Given the description of an element on the screen output the (x, y) to click on. 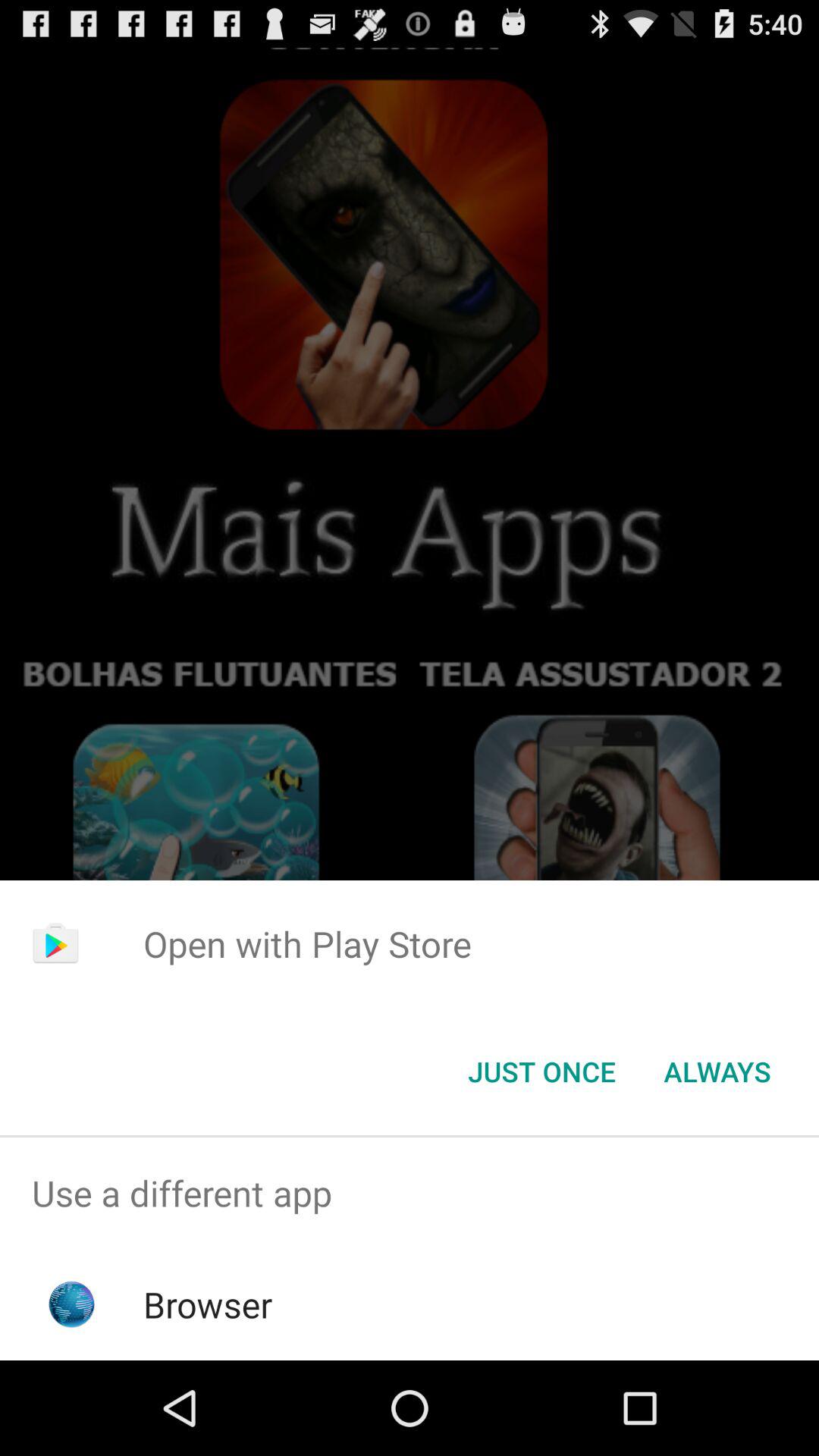
scroll until the use a different icon (409, 1192)
